Given the description of an element on the screen output the (x, y) to click on. 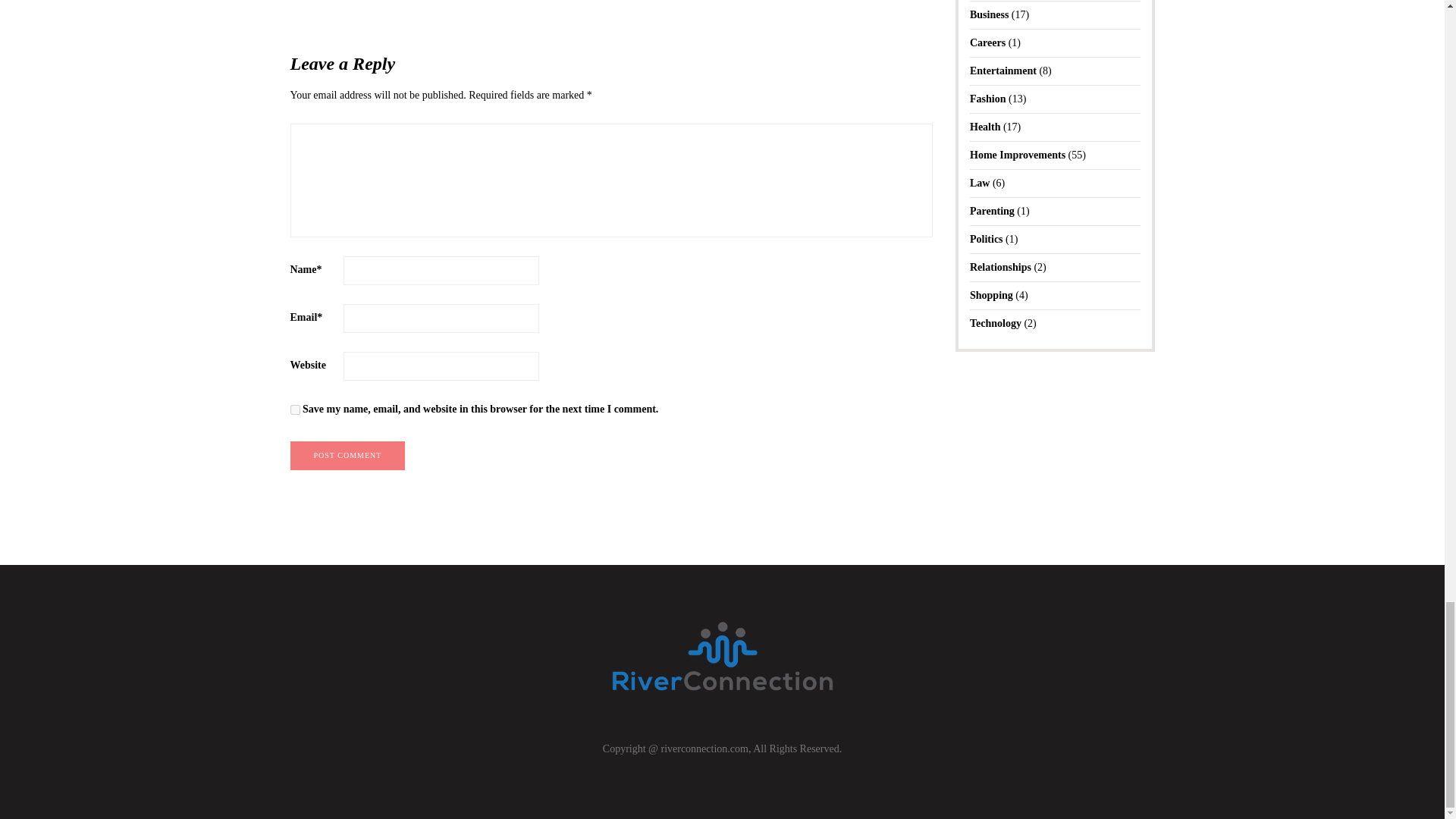
Post comment (346, 455)
yes (294, 409)
